Given the description of an element on the screen output the (x, y) to click on. 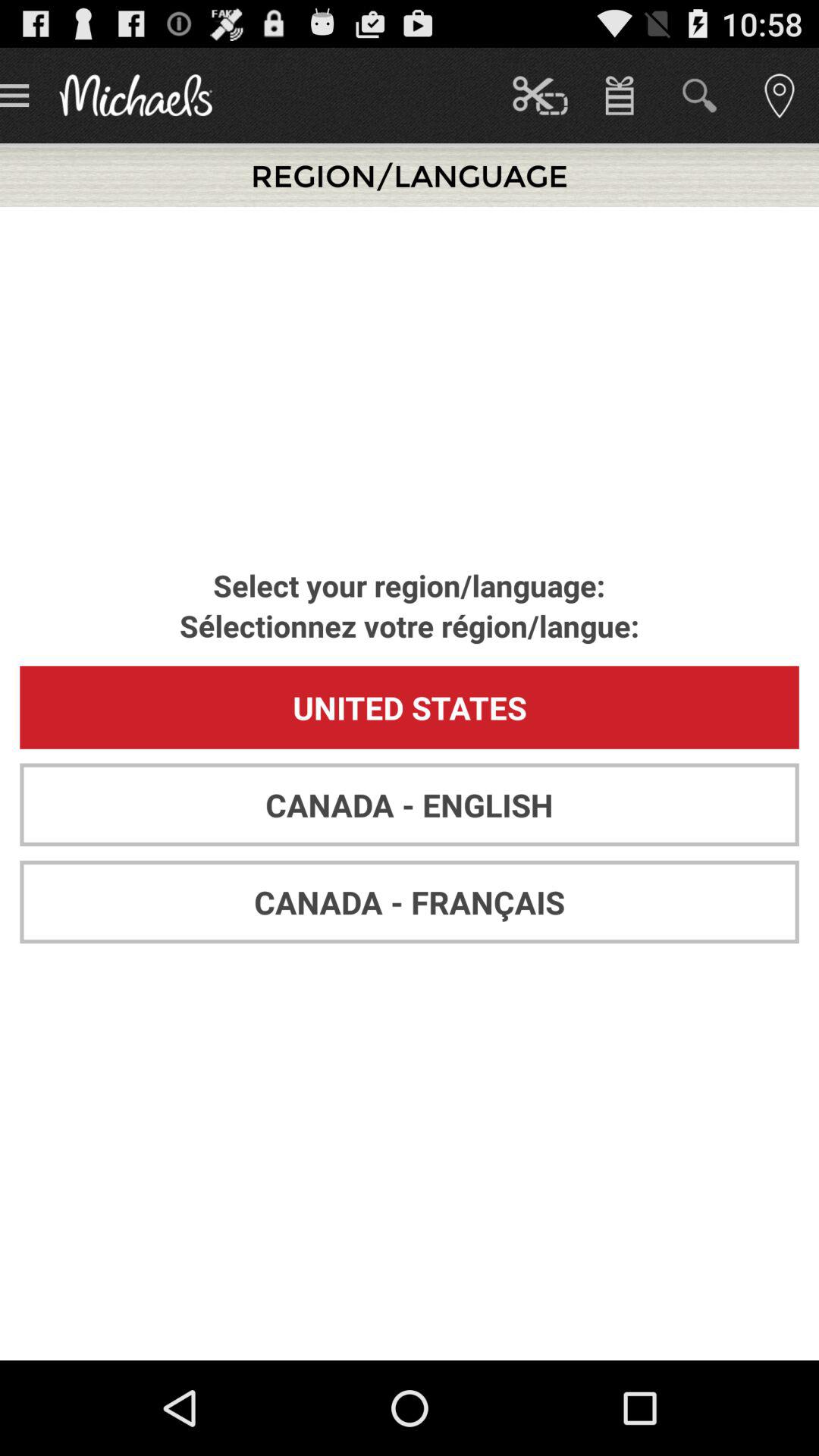
turn off app above the canada - english app (409, 707)
